Given the description of an element on the screen output the (x, y) to click on. 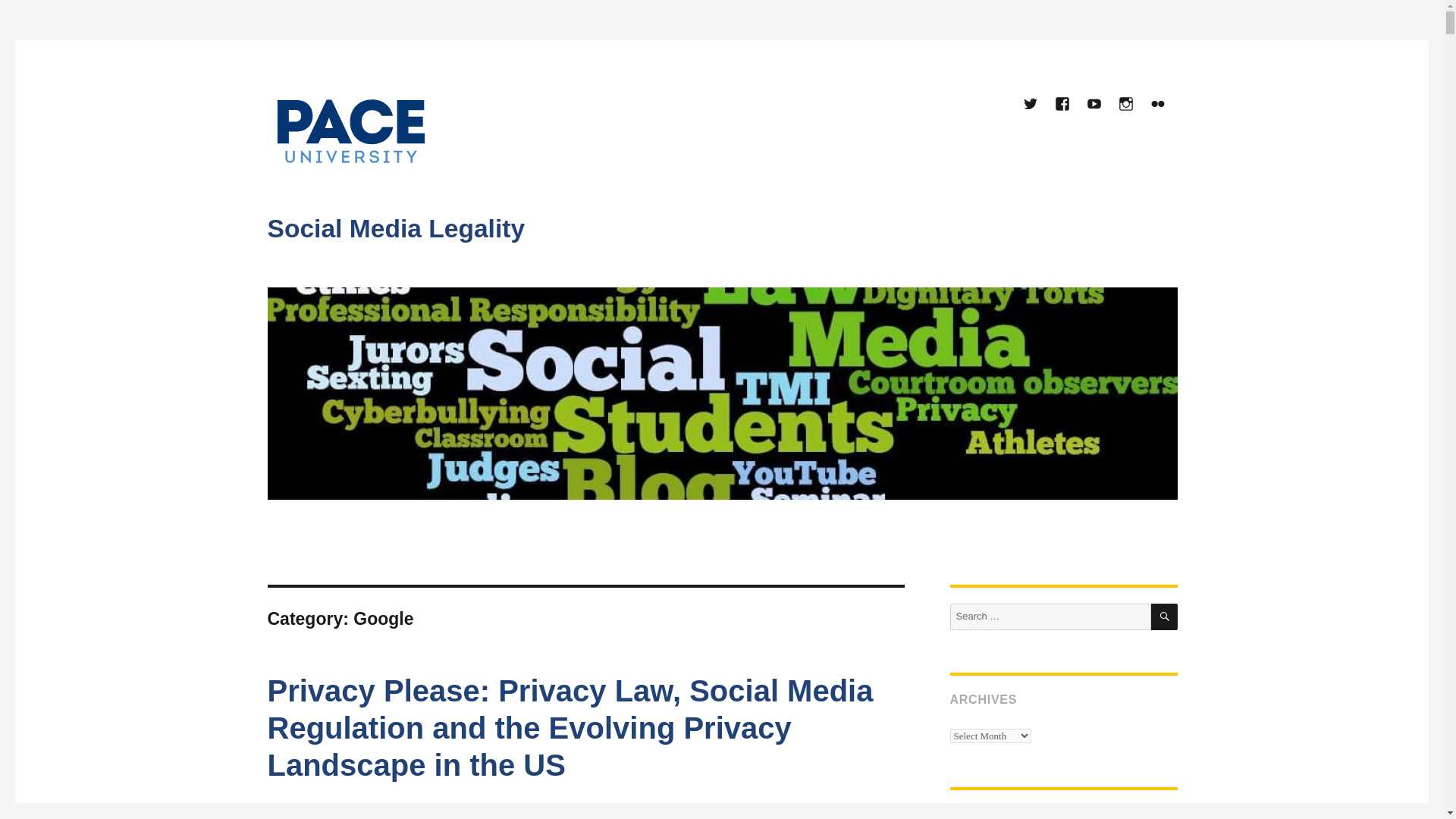
twitter (1030, 104)
youtube (1094, 104)
facebook (1062, 104)
instagram (1126, 104)
flickr (1158, 104)
Social Media Legality (395, 228)
